Given the description of an element on the screen output the (x, y) to click on. 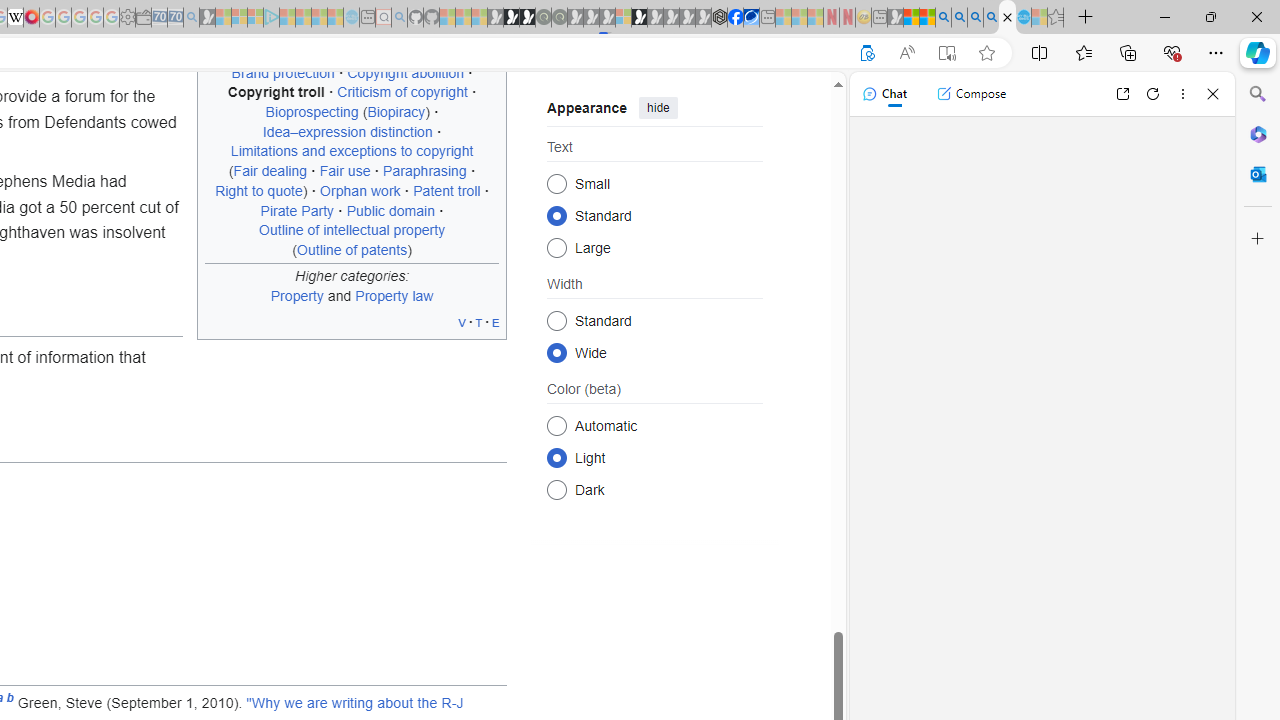
e (495, 322)
Enter Immersive Reader (F9) (946, 53)
Fair dealing (270, 171)
Nordace | Facebook (735, 17)
Right to quote) (261, 190)
Copyright troll - Wikipedia (1007, 17)
e (495, 322)
Play Zoo Boom in your browser | Games from Microsoft Start (511, 17)
